Given the description of an element on the screen output the (x, y) to click on. 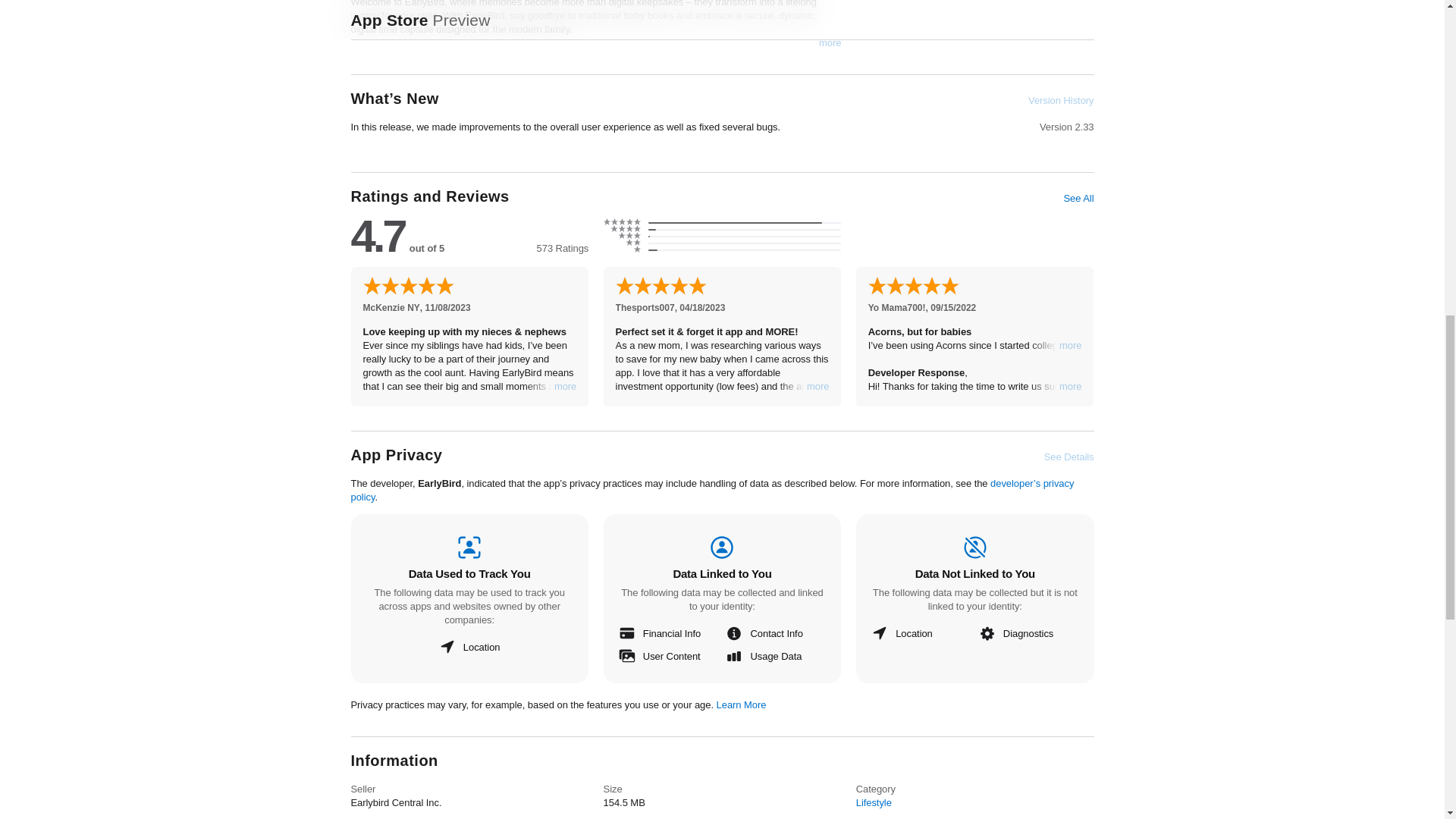
more (1070, 345)
See Details (1068, 457)
Learn More (741, 704)
more (1070, 386)
Lifestyle (873, 802)
Version History (1060, 100)
See All (1077, 198)
more (817, 386)
more (829, 42)
more (565, 386)
